Given the description of an element on the screen output the (x, y) to click on. 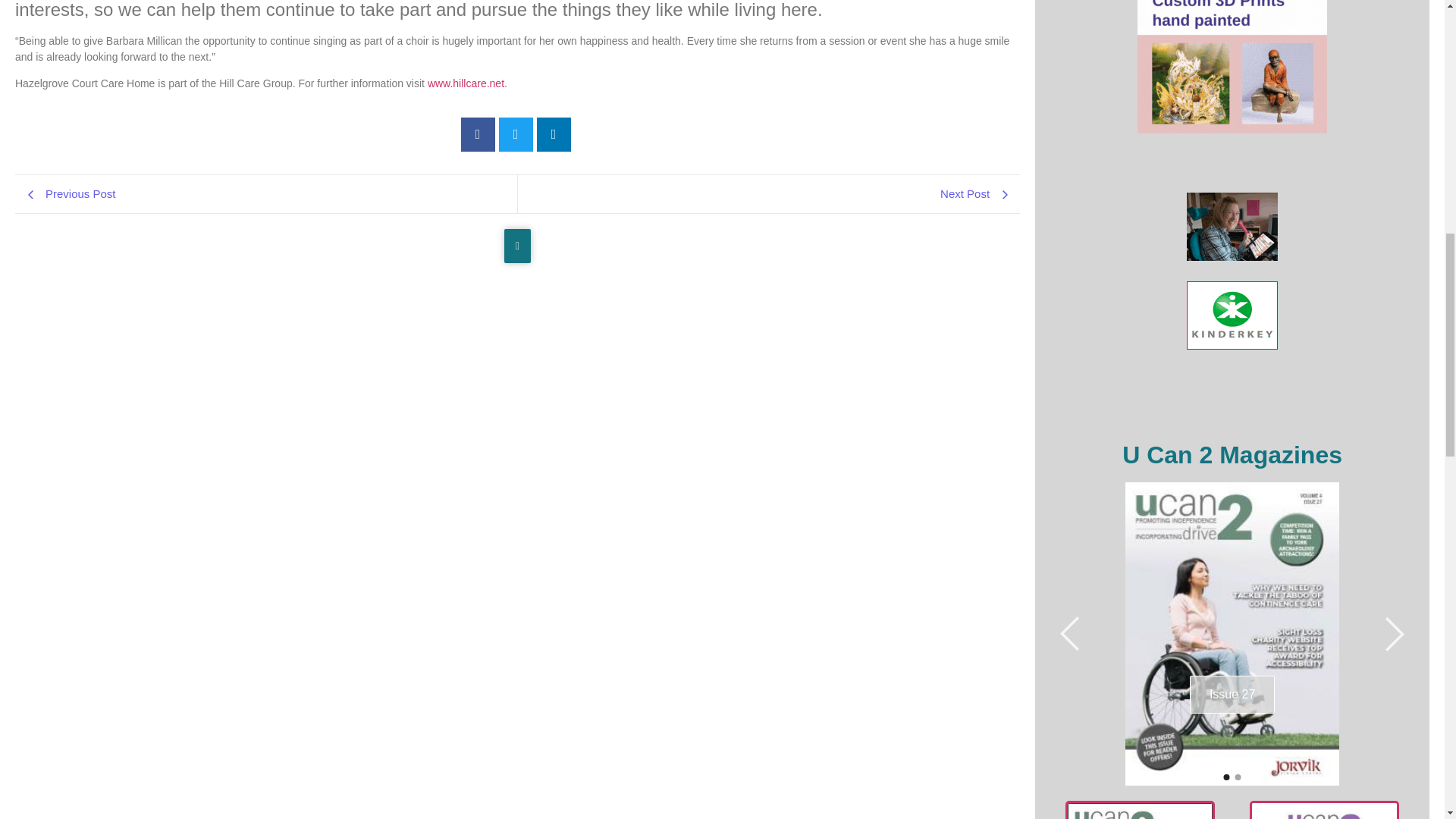
Issue 27 (1232, 633)
